Given the description of an element on the screen output the (x, y) to click on. 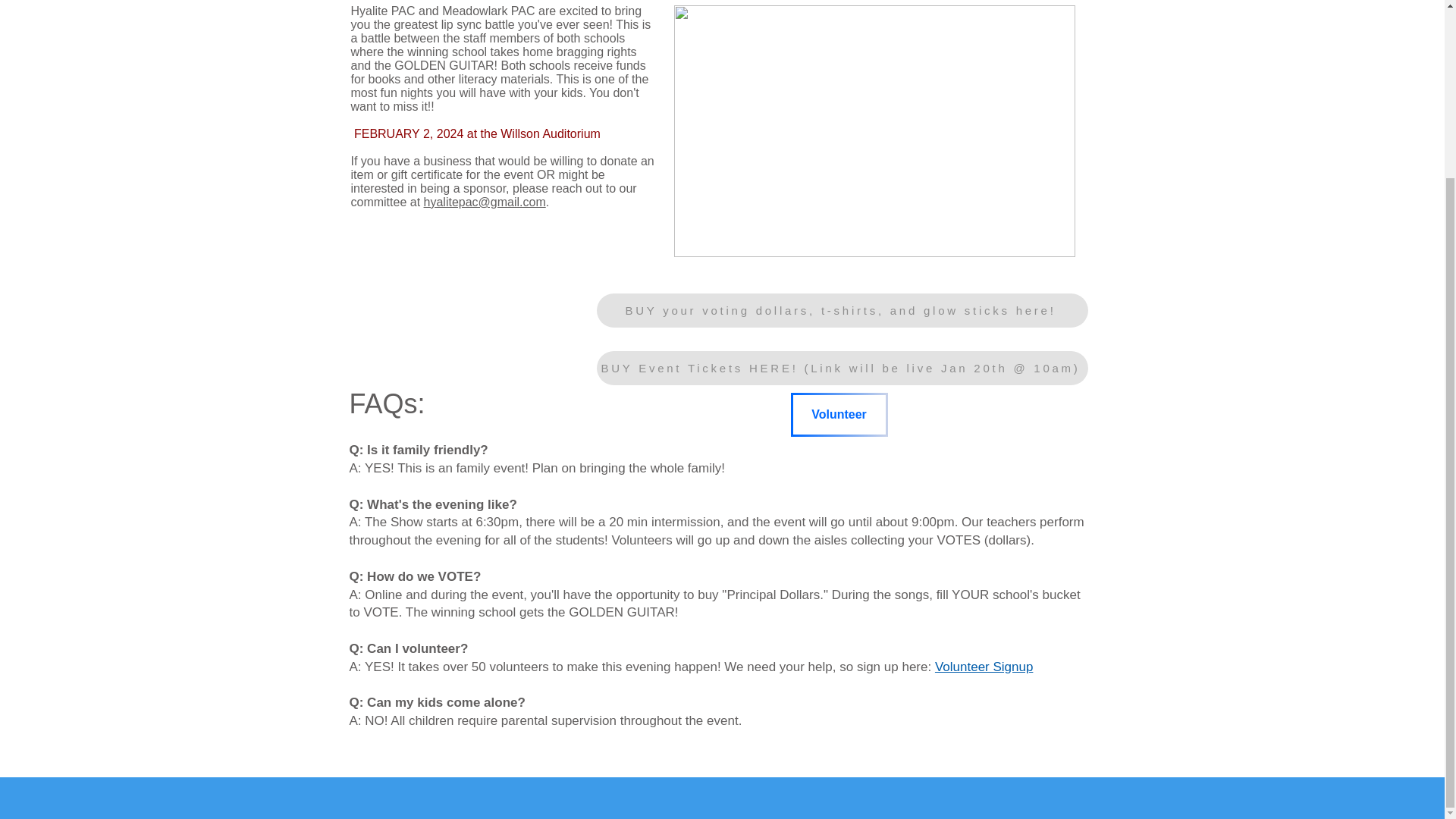
Volunteer (838, 414)
Volunteer Signup (983, 667)
BUY your voting dollars, t-shirts, and glow sticks here! (841, 310)
Cream Simple Illustrated Studio Music Po (873, 130)
